Given the description of an element on the screen output the (x, y) to click on. 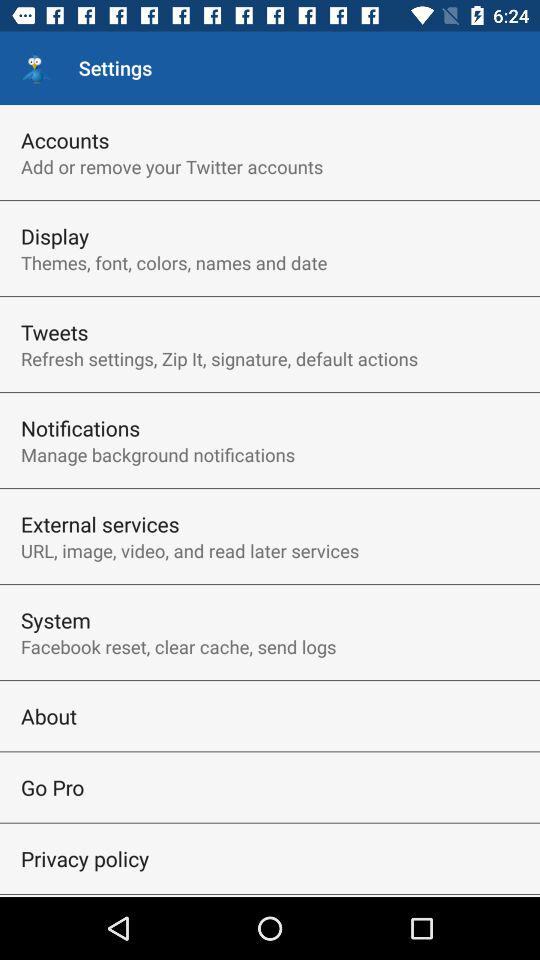
flip until the add or remove (172, 166)
